Given the description of an element on the screen output the (x, y) to click on. 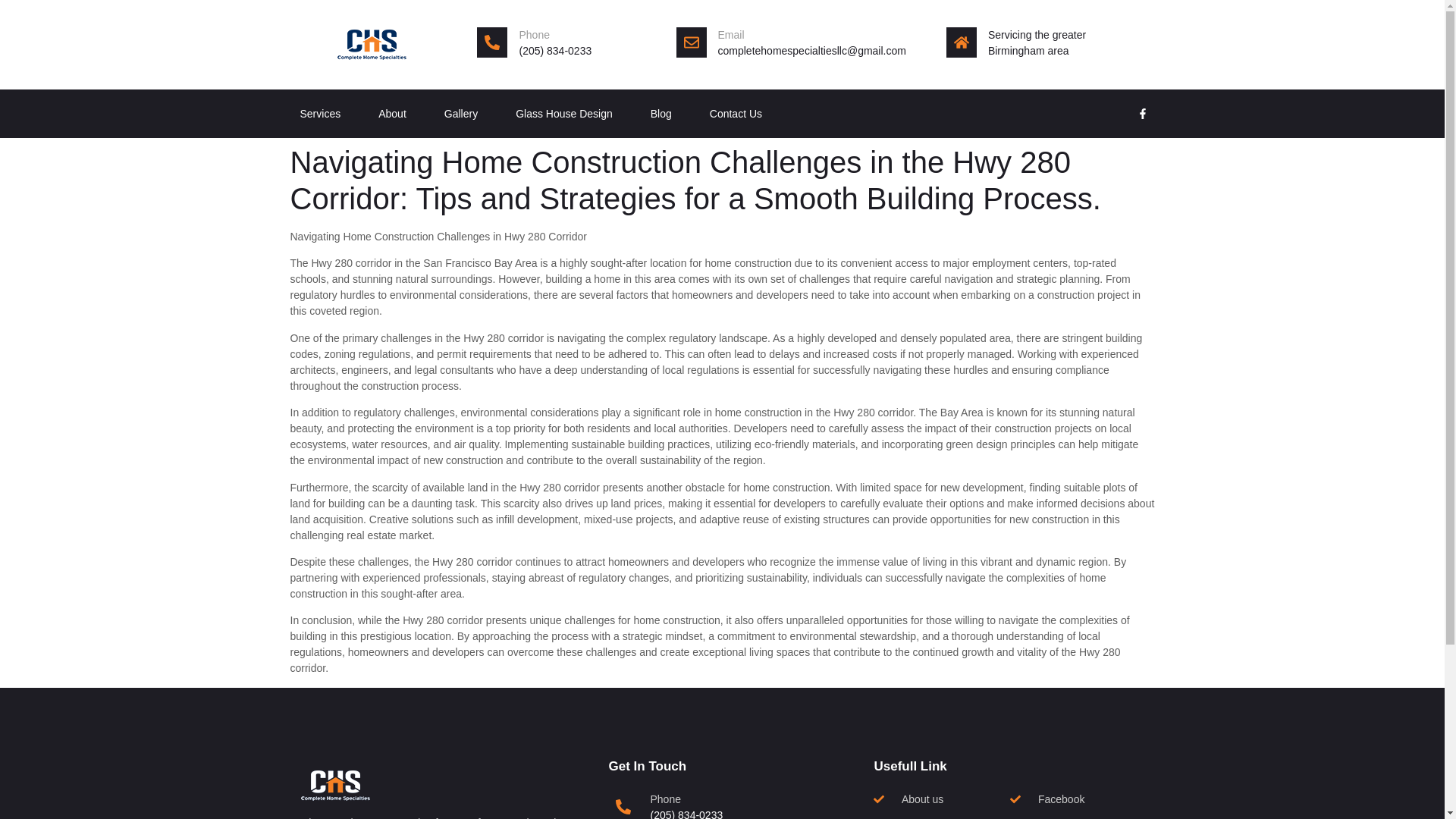
Phone (533, 34)
Services (320, 113)
Glass House Design (563, 113)
Email (730, 34)
Contact Us (735, 113)
Blog (660, 113)
Facebook (1078, 799)
About us (941, 799)
About (392, 113)
Gallery (460, 113)
Phone (664, 799)
Twitter (1078, 818)
